Given the description of an element on the screen output the (x, y) to click on. 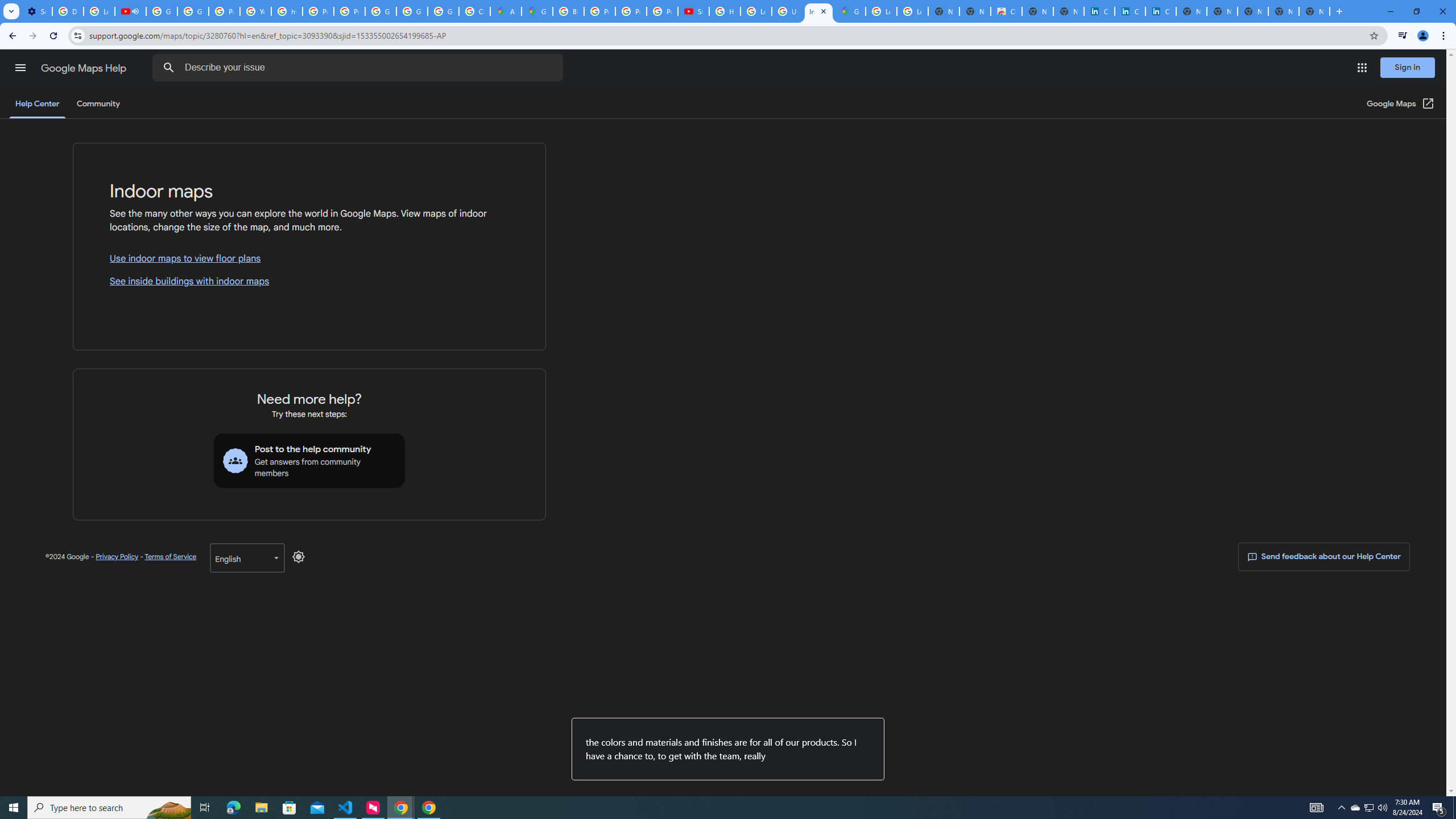
YouTube (255, 11)
Describe your issue (359, 67)
See inside buildings with indoor maps (309, 281)
Privacy Help Center - Policies Help (599, 11)
Control your music, videos, and more (1402, 35)
Indoor maps - Google Maps Help (818, 11)
Privacy Policy (117, 556)
Google Maps (536, 11)
Google Account Help (161, 11)
